Given the description of an element on the screen output the (x, y) to click on. 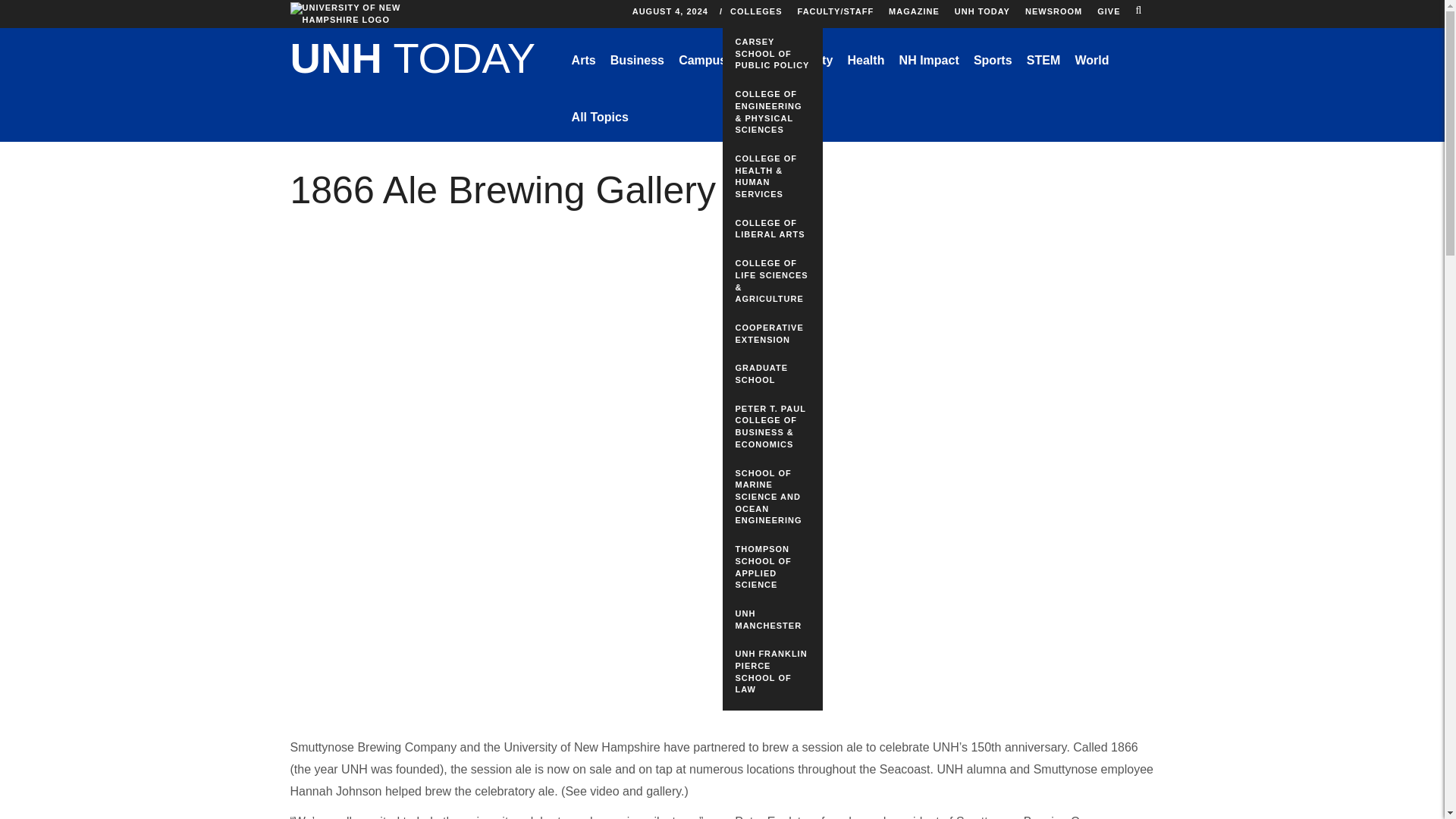
Show NH Impact Menu (928, 60)
UNH Today (412, 60)
Show Business Menu (636, 60)
University of New Hampshire Homepage (349, 13)
Show Community Menu (799, 60)
Skip to main content (674, 4)
Show Campus Life Menu (714, 60)
